Given the description of an element on the screen output the (x, y) to click on. 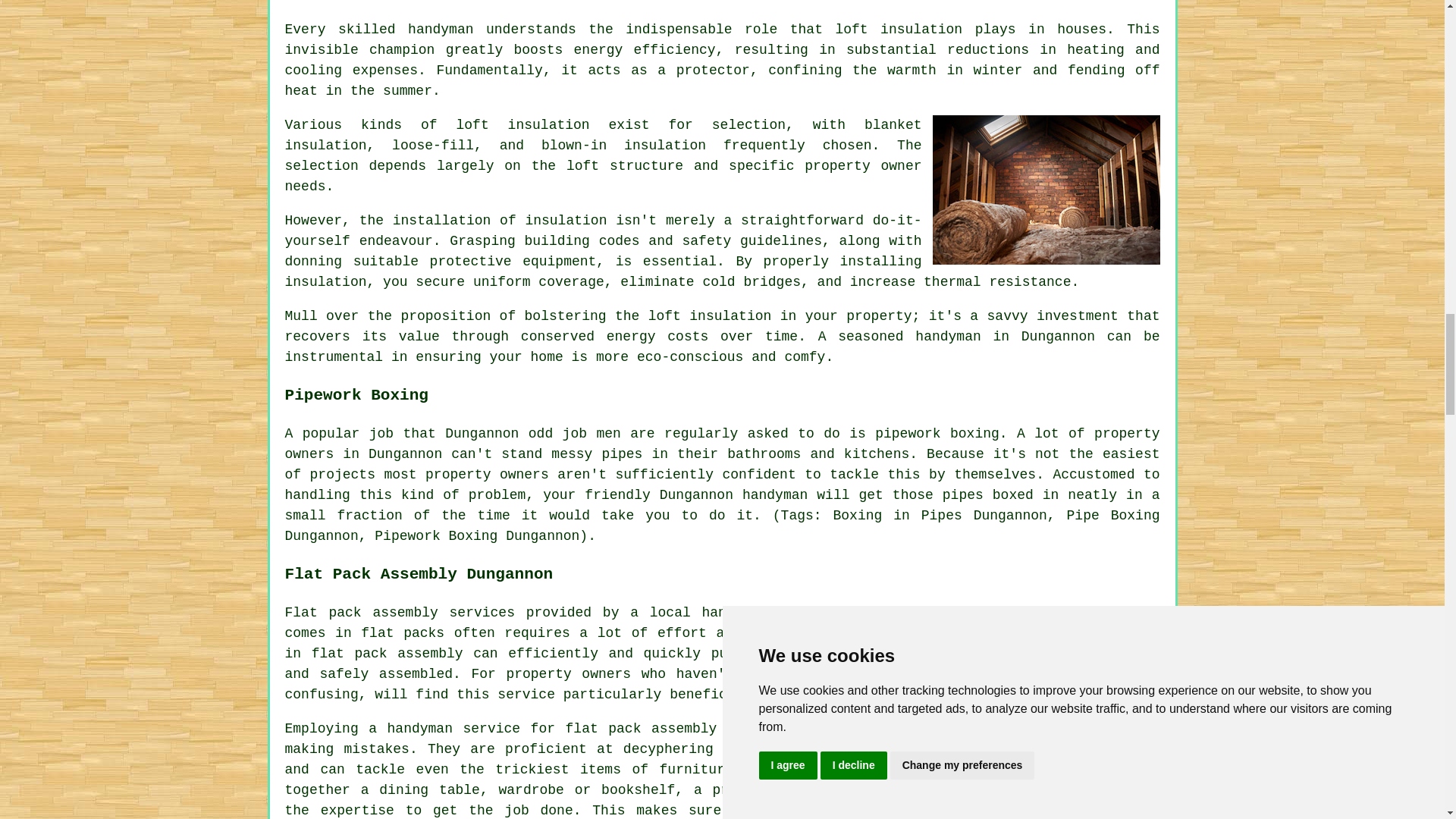
Loft Insulation Dungannon (1046, 189)
handyman (775, 494)
Handyman Flat Pack Assembly Dungannon (1046, 769)
loft insulation (898, 29)
flat pack (604, 728)
handyman (734, 612)
